Given the description of an element on the screen output the (x, y) to click on. 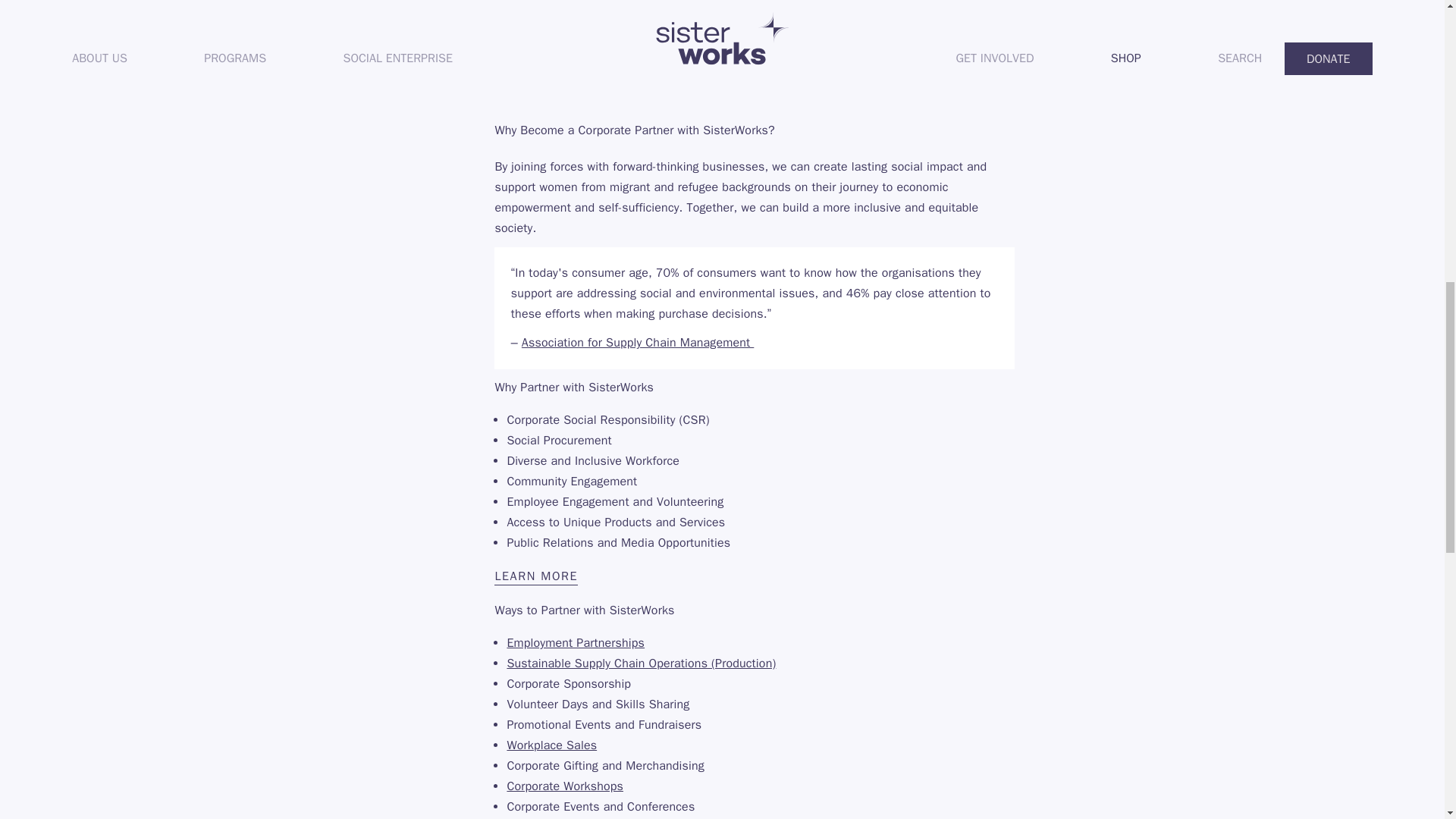
Association for Supply Chain Management  (637, 342)
LEARN MORE (754, 576)
Employment Partnerships (575, 642)
Workplace Sales (551, 744)
Corporate Workshops (564, 785)
